Given the description of an element on the screen output the (x, y) to click on. 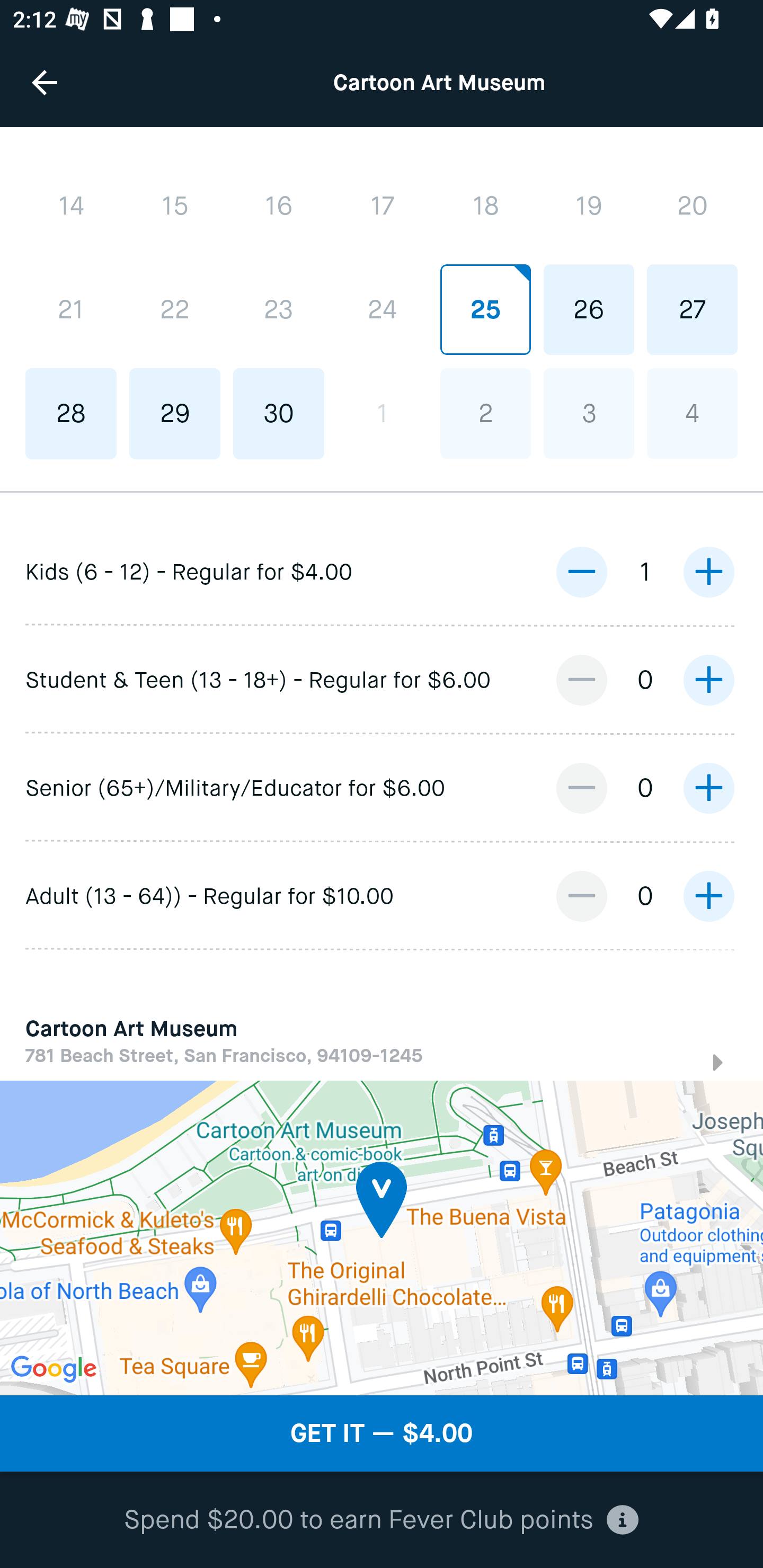
Navigate up (44, 82)
14 (70, 204)
15 (174, 204)
16 (278, 204)
17 (382, 204)
18 (485, 204)
19 (588, 204)
20 (692, 204)
21 (70, 309)
22 (174, 309)
23 (278, 309)
24 (382, 309)
25 (485, 309)
26 (588, 309)
27 (692, 309)
28 (70, 413)
29 (174, 413)
30 (278, 413)
1 (382, 413)
2 (485, 413)
3 (588, 413)
4 (692, 413)
decrease (581, 571)
increase (708, 571)
decrease (581, 679)
increase (708, 679)
decrease (581, 787)
increase (708, 787)
decrease (581, 895)
increase (708, 895)
Google Map Map Marker (381, 1237)
GET IT — $4.00 (381, 1433)
Spend $20.00 to earn Fever Club points (381, 1519)
